Given the description of an element on the screen output the (x, y) to click on. 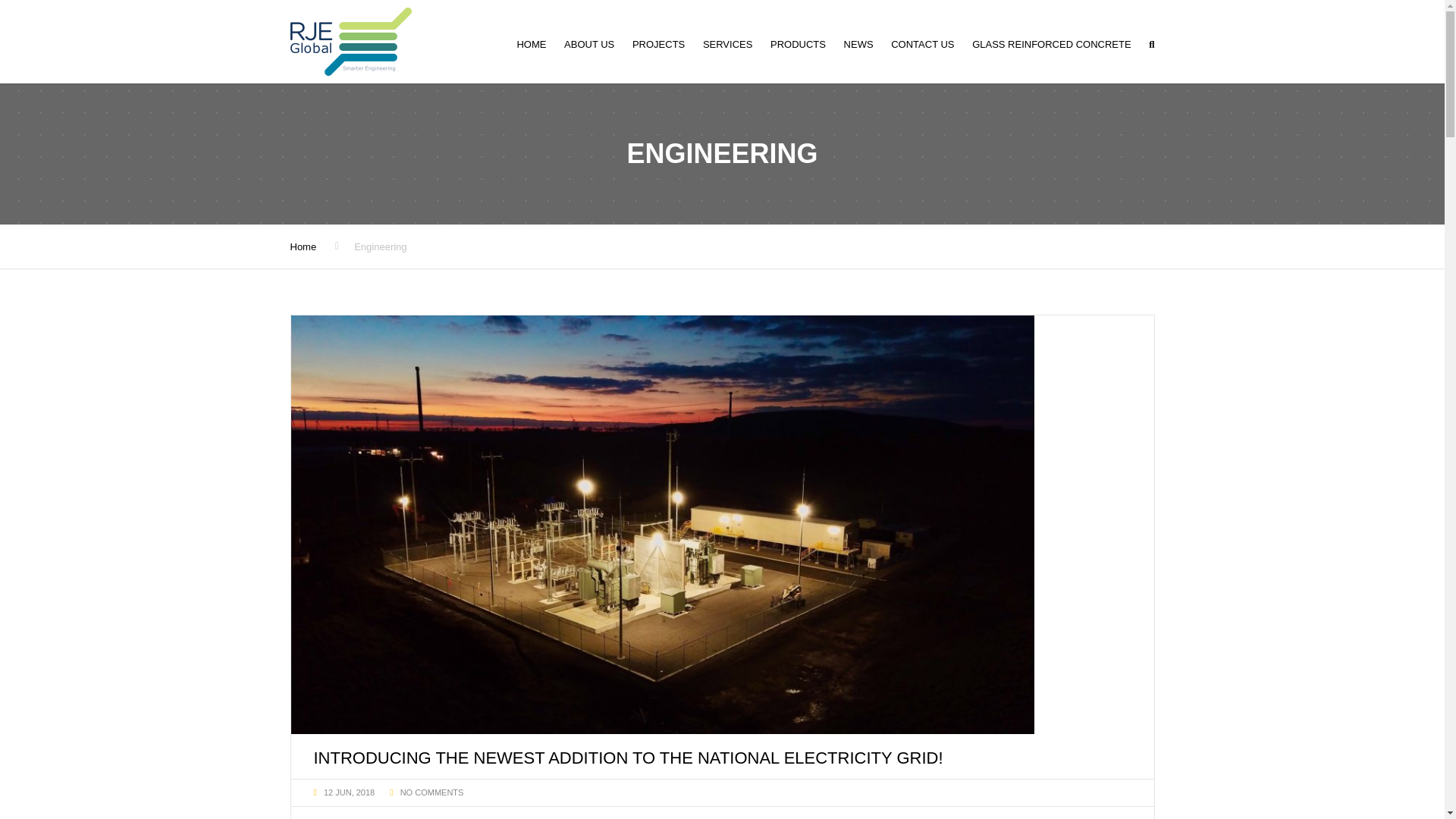
ABOUT US (588, 44)
CONTACT US (921, 44)
SERVICES (727, 44)
GLASS REINFORCED CONCRETE (1050, 44)
Home (302, 246)
PROJECTS (658, 44)
PRODUCTS (797, 44)
